Given the description of an element on the screen output the (x, y) to click on. 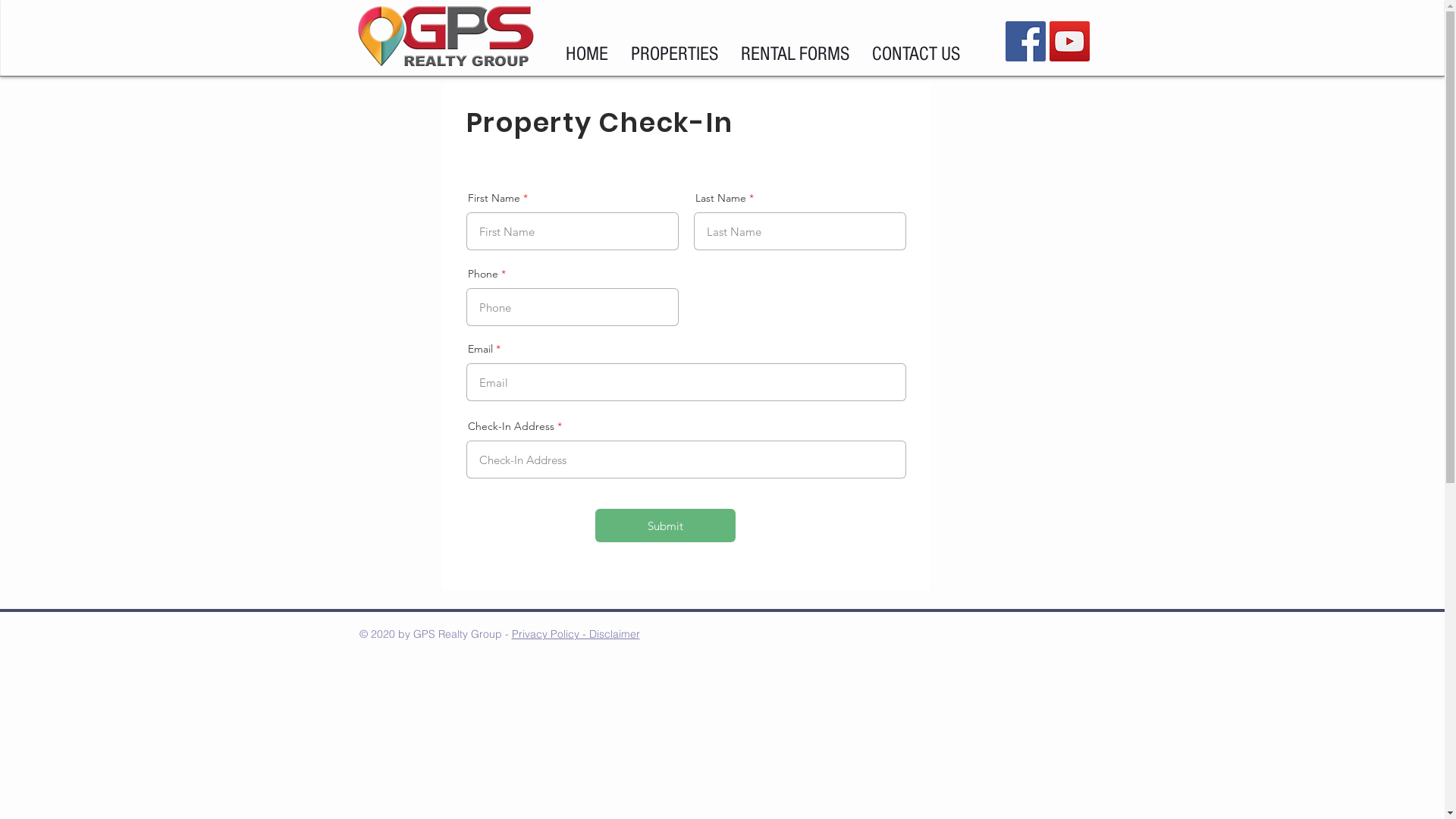
GPS Sign Website Logo Landscape Dark.png Element type: hover (445, 37)
Privacy Policy - Disclaimer Element type: text (575, 633)
PROPERTIES Element type: text (673, 54)
RENTAL FORMS Element type: text (794, 54)
Submit Element type: text (664, 525)
CONTACT US Element type: text (914, 54)
HOME Element type: text (585, 54)
